Given the description of an element on the screen output the (x, y) to click on. 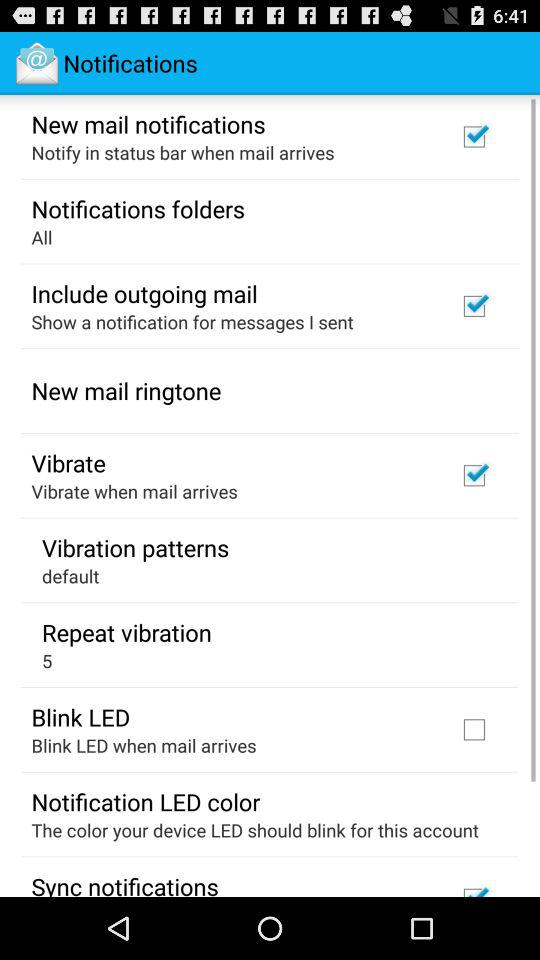
launch all icon (41, 236)
